Given the description of an element on the screen output the (x, y) to click on. 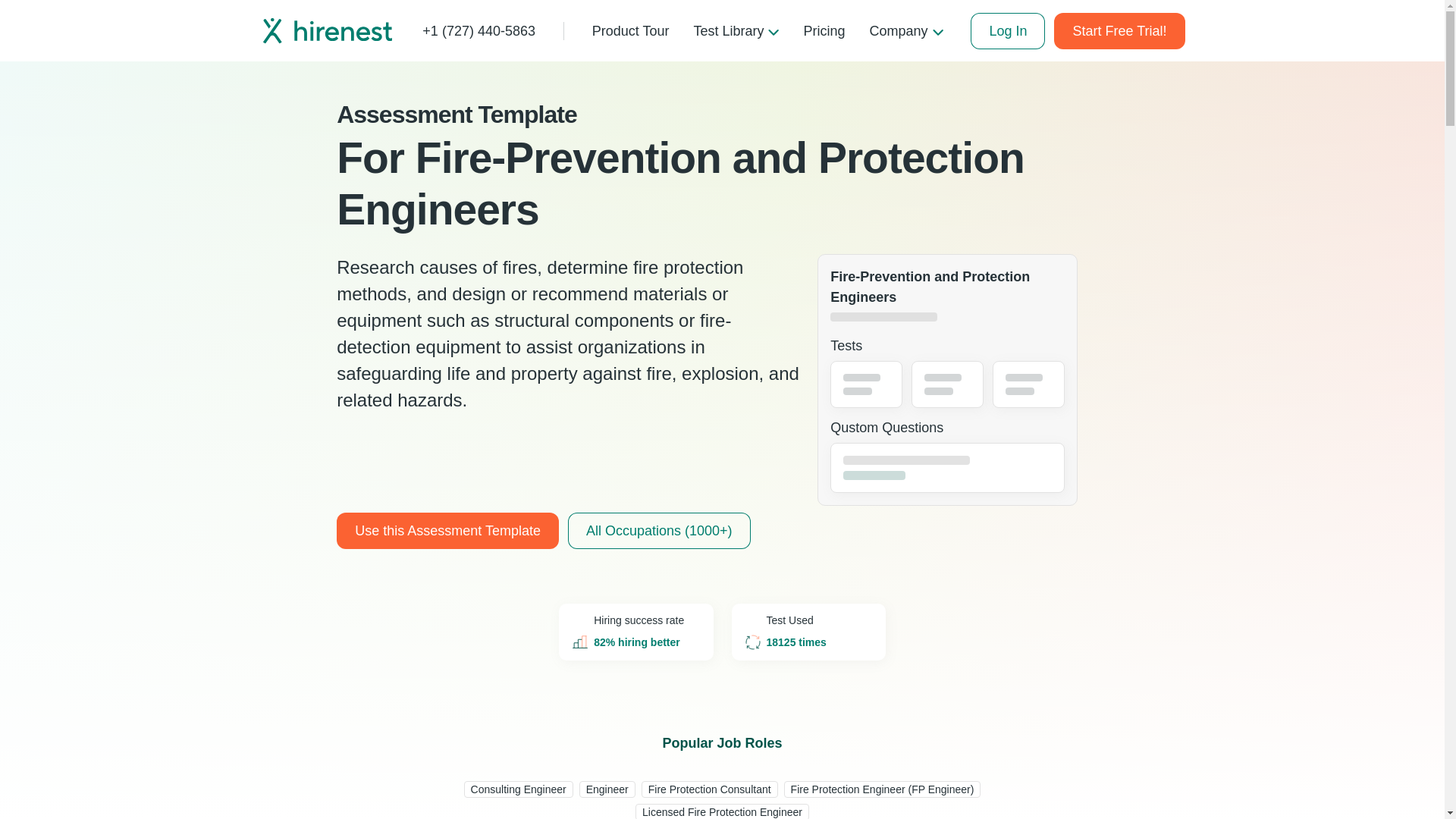
Pricing (823, 31)
Start Free Trial! (1119, 31)
Log In (1008, 31)
Use this Assessment Template (447, 530)
Product Tour (630, 31)
